Given the description of an element on the screen output the (x, y) to click on. 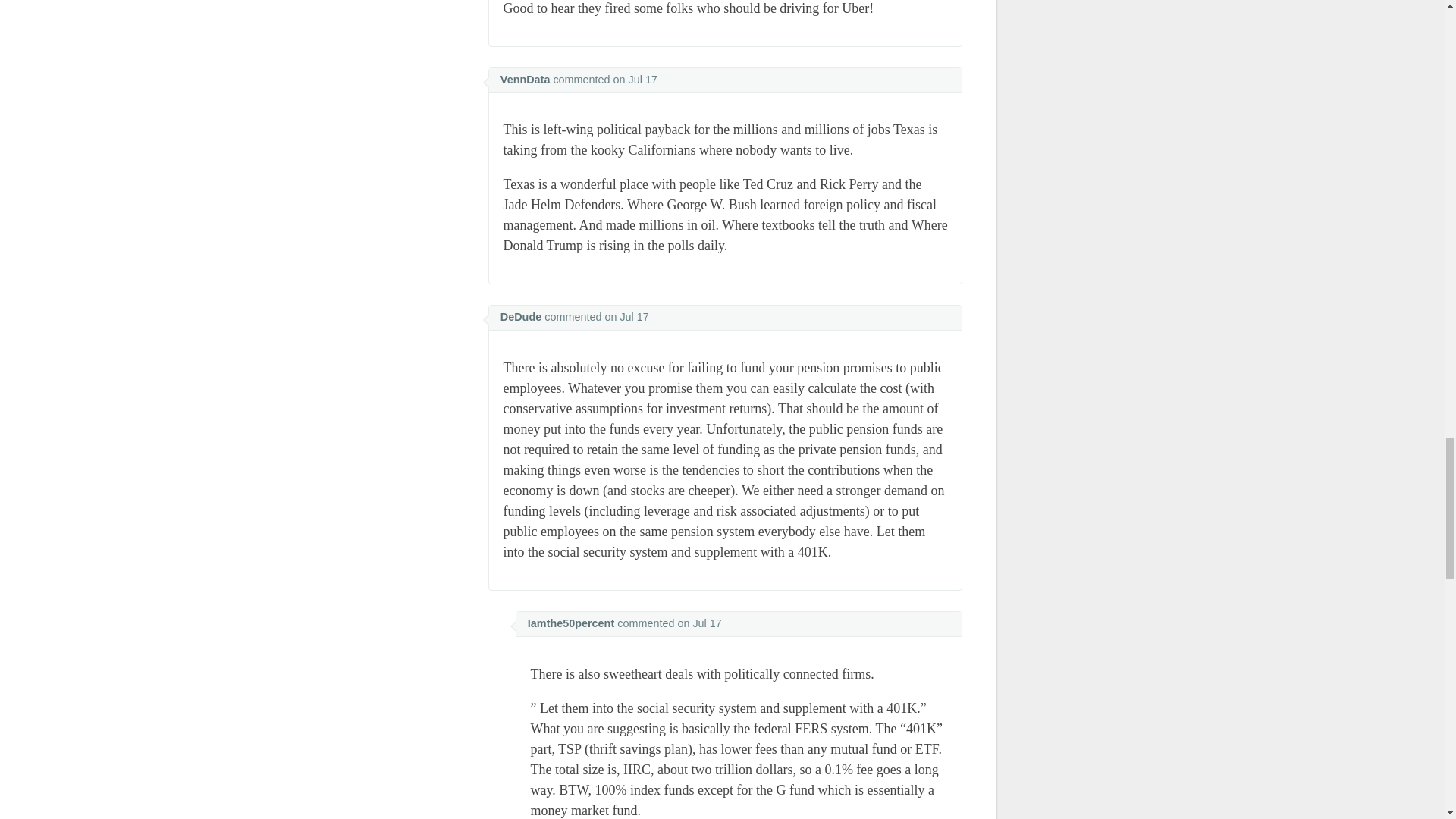
Iamthe50percent (570, 623)
DeDude (520, 316)
VennData (525, 79)
